Given the description of an element on the screen output the (x, y) to click on. 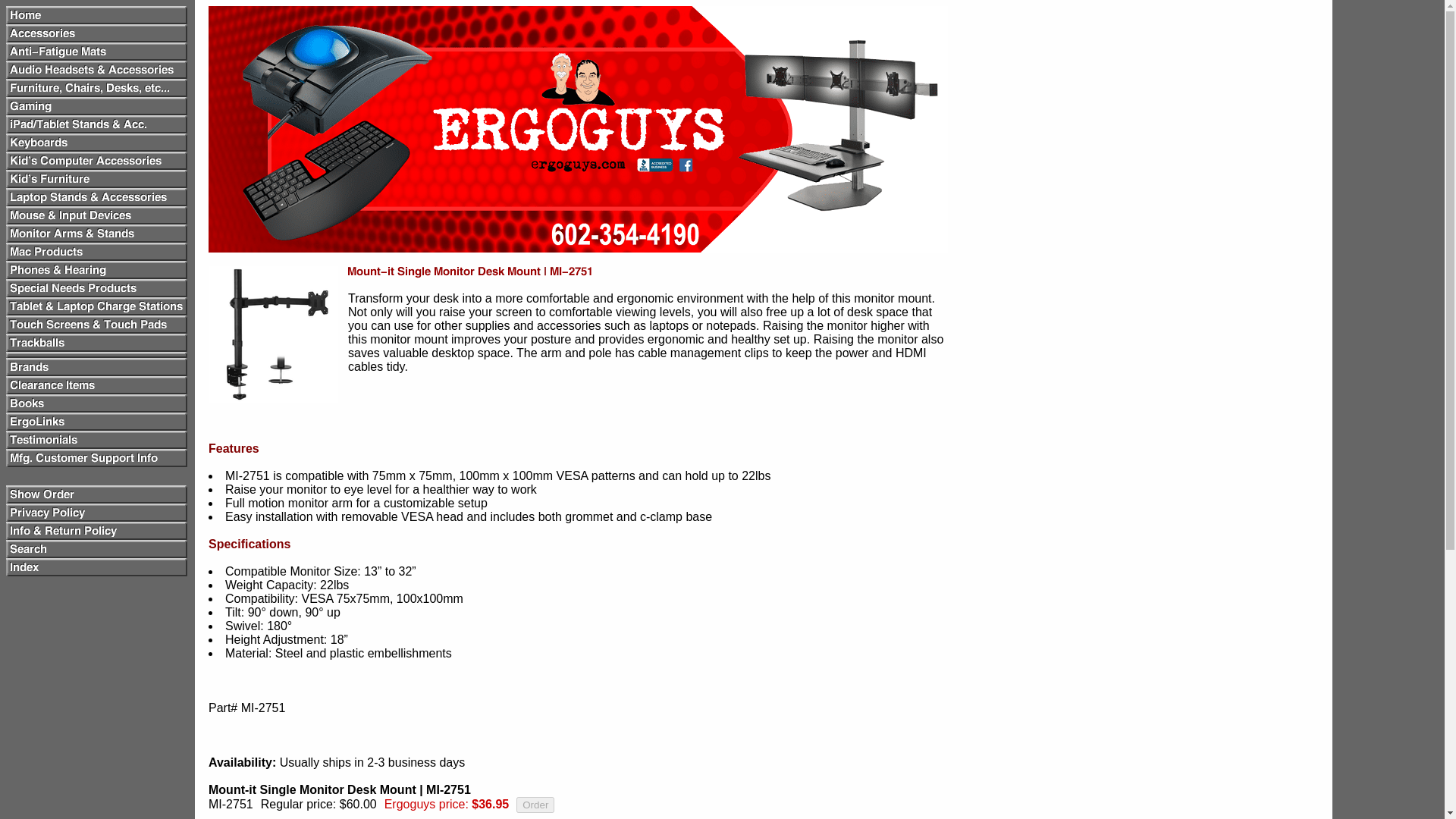
Order (535, 804)
Order (535, 804)
